Given the description of an element on the screen output the (x, y) to click on. 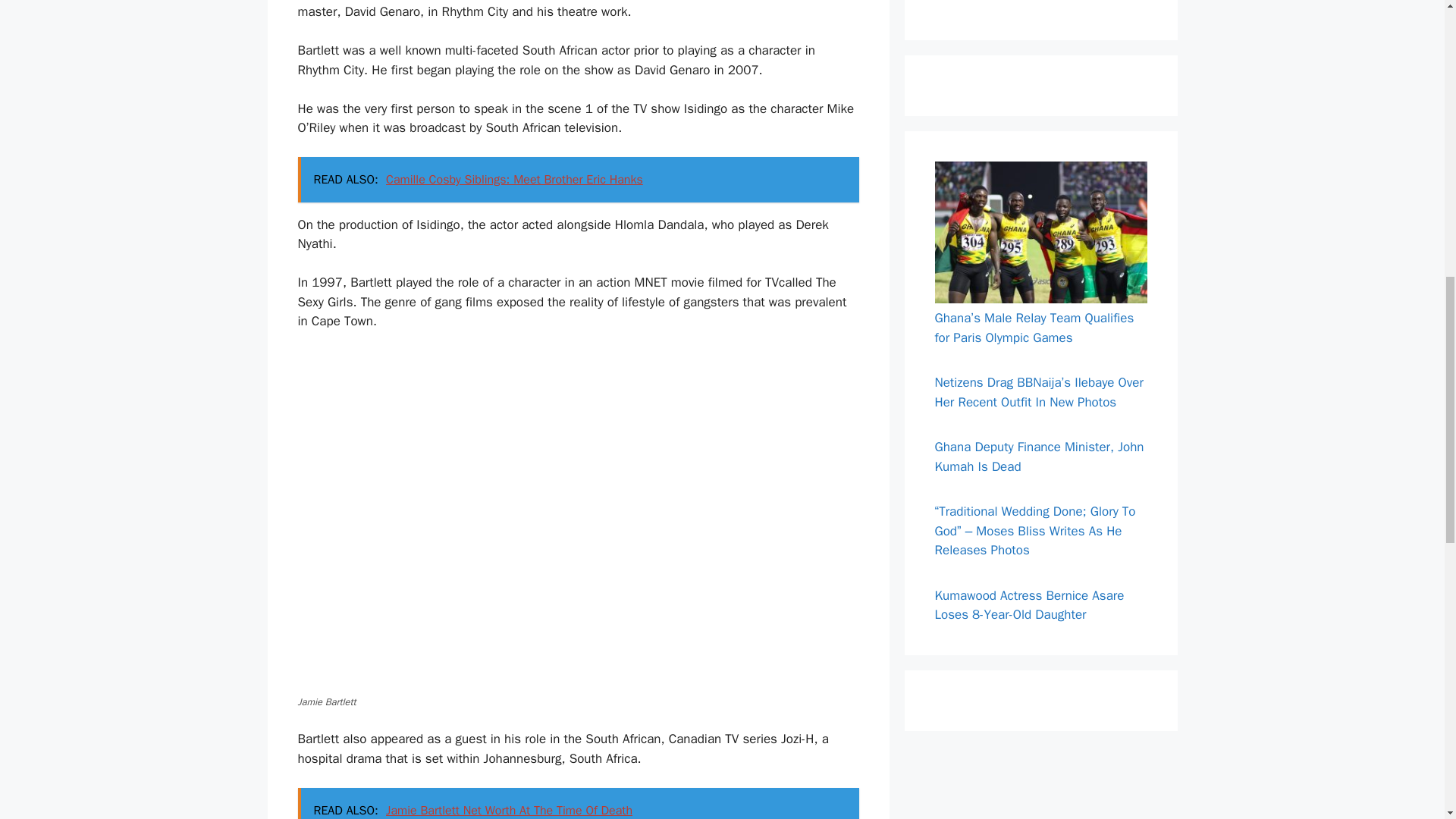
Kumawood Actress Bernice Asare Loses 8-Year-Old Daughter (1029, 605)
READ ALSO:  Jamie Bartlett Net Worth At The Time Of Death (578, 803)
READ ALSO:  Camille Cosby Siblings: Meet Brother Eric Hanks (578, 179)
Ghana Deputy Finance Minister, John Kumah Is Dead (1038, 456)
